Given the description of an element on the screen output the (x, y) to click on. 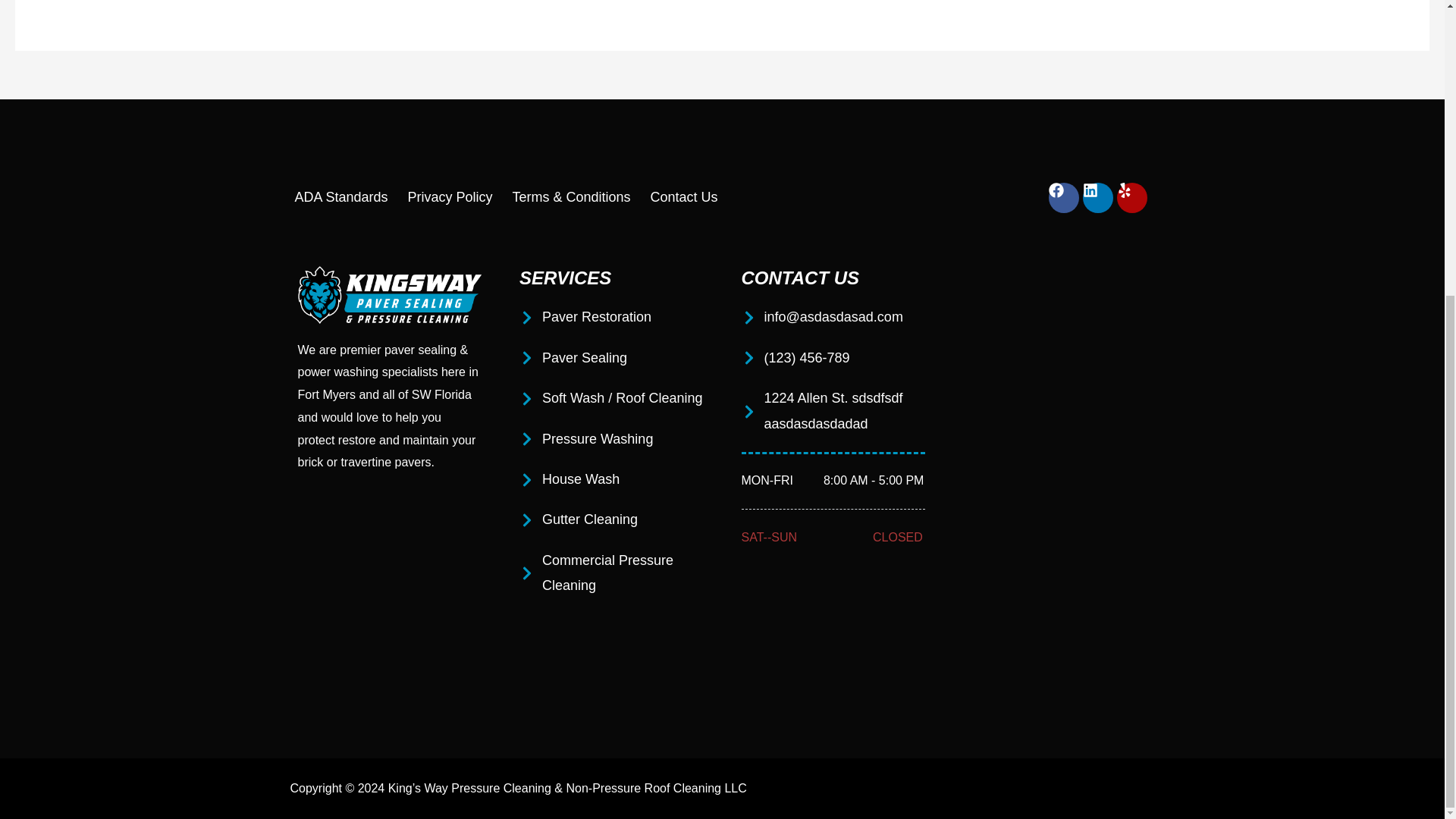
Yelp (1131, 197)
Facebook (1063, 197)
Linkedin (1098, 197)
